Given the description of an element on the screen output the (x, y) to click on. 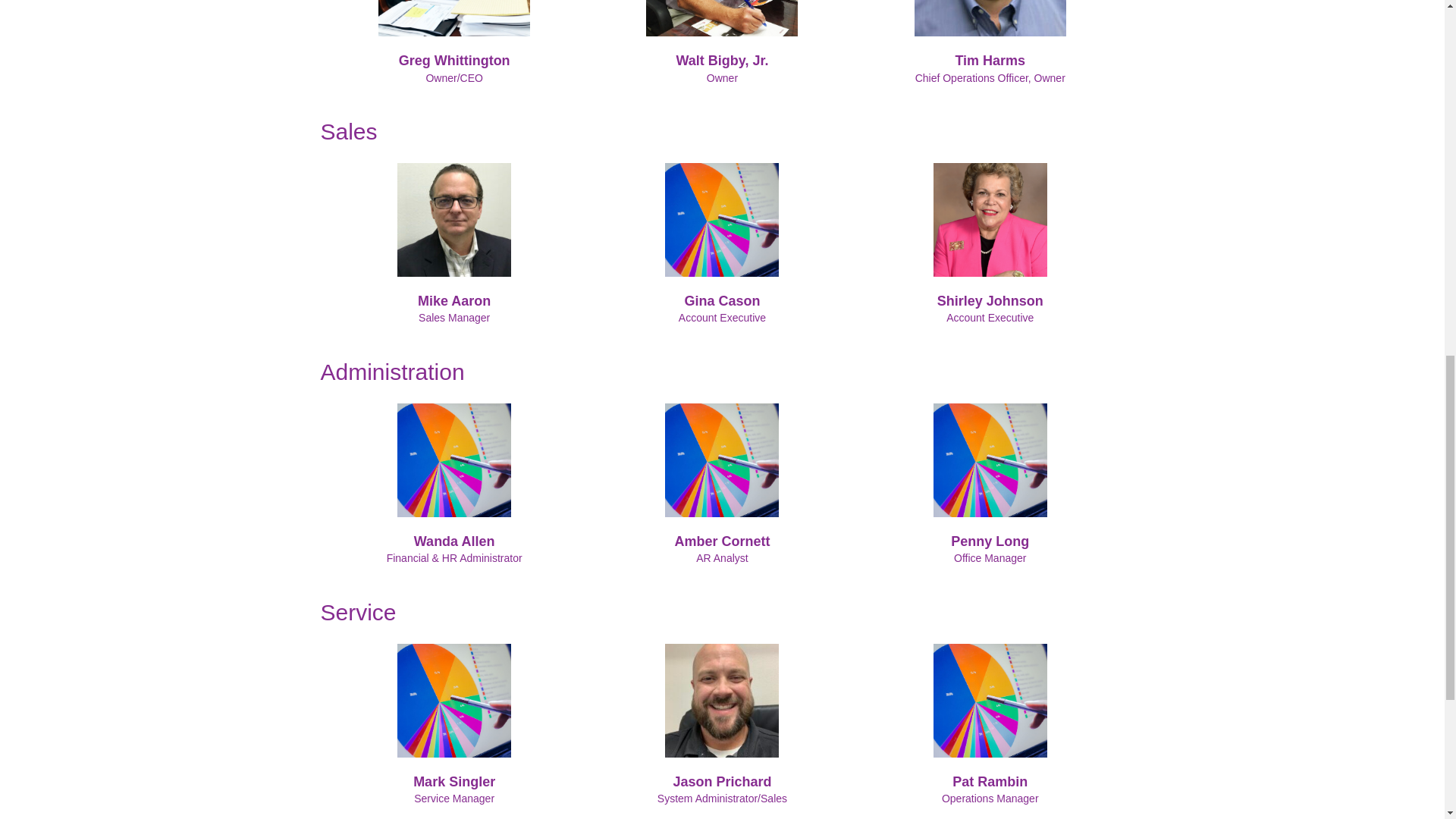
Amber Cornett (722, 540)
Mike Aaron (453, 300)
qtq80-WsYCrG (989, 459)
Gina Cason (722, 300)
Shirley Johnson (990, 300)
Walt-Bigby-scaled (721, 18)
Tim Harms (989, 18)
qtq80-WsYCrG (721, 219)
Penny Long (989, 540)
qtq80-WsYCrG (454, 459)
Wanda Allen (454, 540)
Mike Aaron Innovative Office Systems Bossier City (454, 219)
Shirley Johnson (989, 219)
Greg-scaled (453, 18)
qtq80-WsYCrG (721, 459)
